Given the description of an element on the screen output the (x, y) to click on. 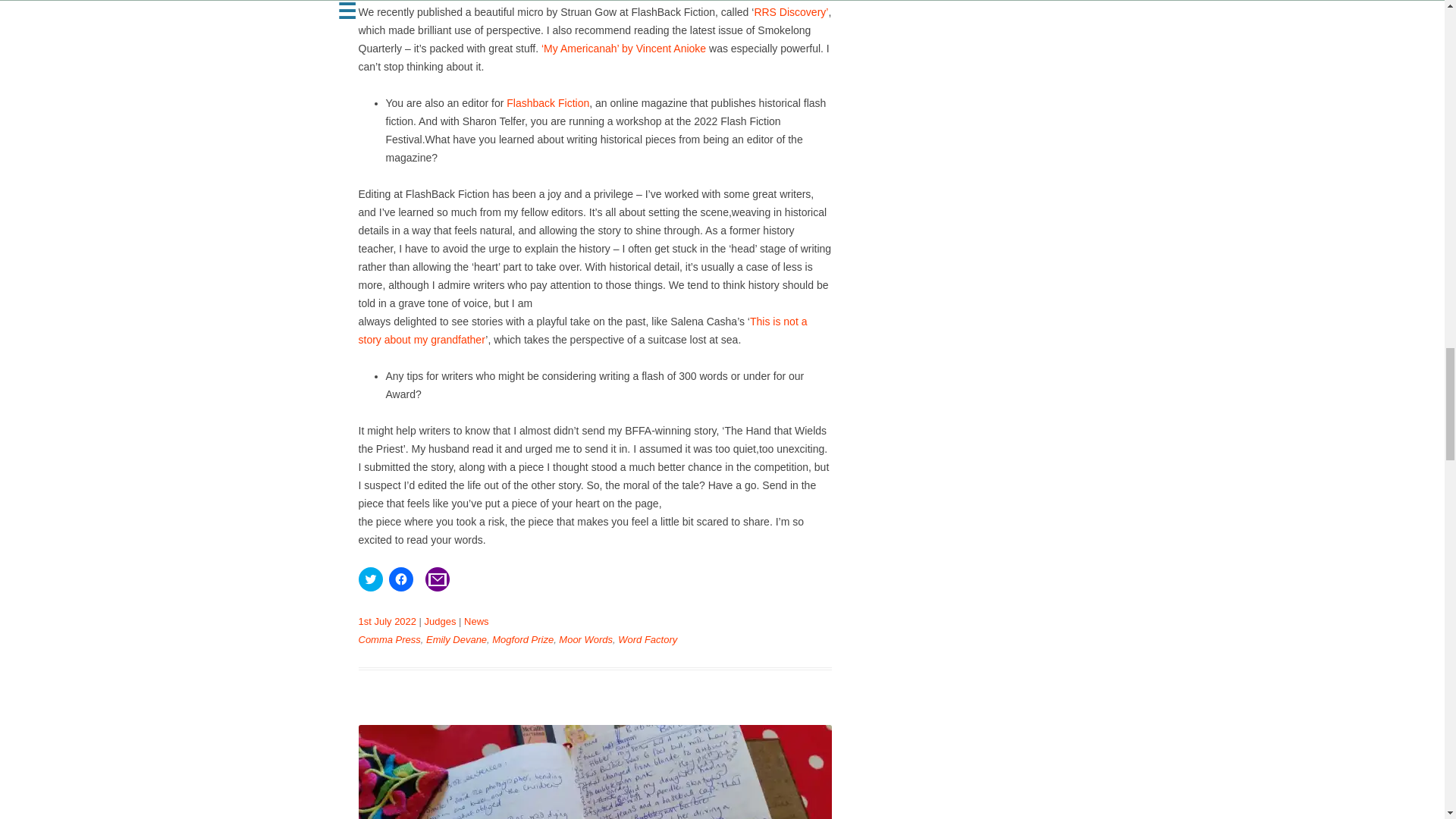
Click to share on Facebook (400, 579)
Word Factory (647, 639)
6:05 pm (387, 621)
News (475, 621)
This is not a story about my grandfather (582, 330)
Click to share by email (436, 579)
Comma Press (389, 639)
Mogford Prize (522, 639)
Click to share on Twitter (369, 579)
Judges (441, 621)
Flashback Fiction (547, 102)
Emily Devane (456, 639)
Moor Words (585, 639)
1st July 2022 (387, 621)
